Given the description of an element on the screen output the (x, y) to click on. 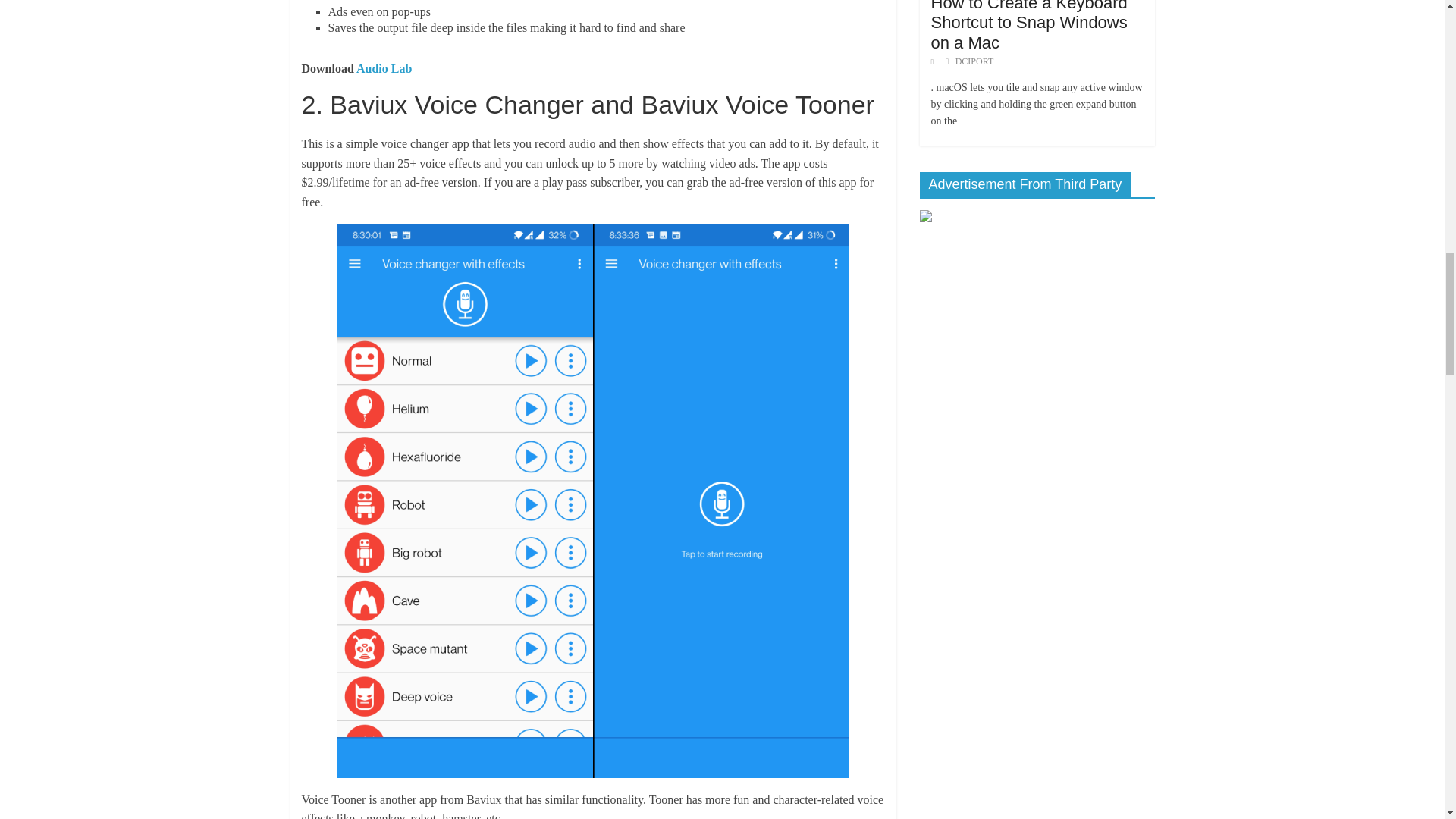
Audio Lab (384, 68)
